Given the description of an element on the screen output the (x, y) to click on. 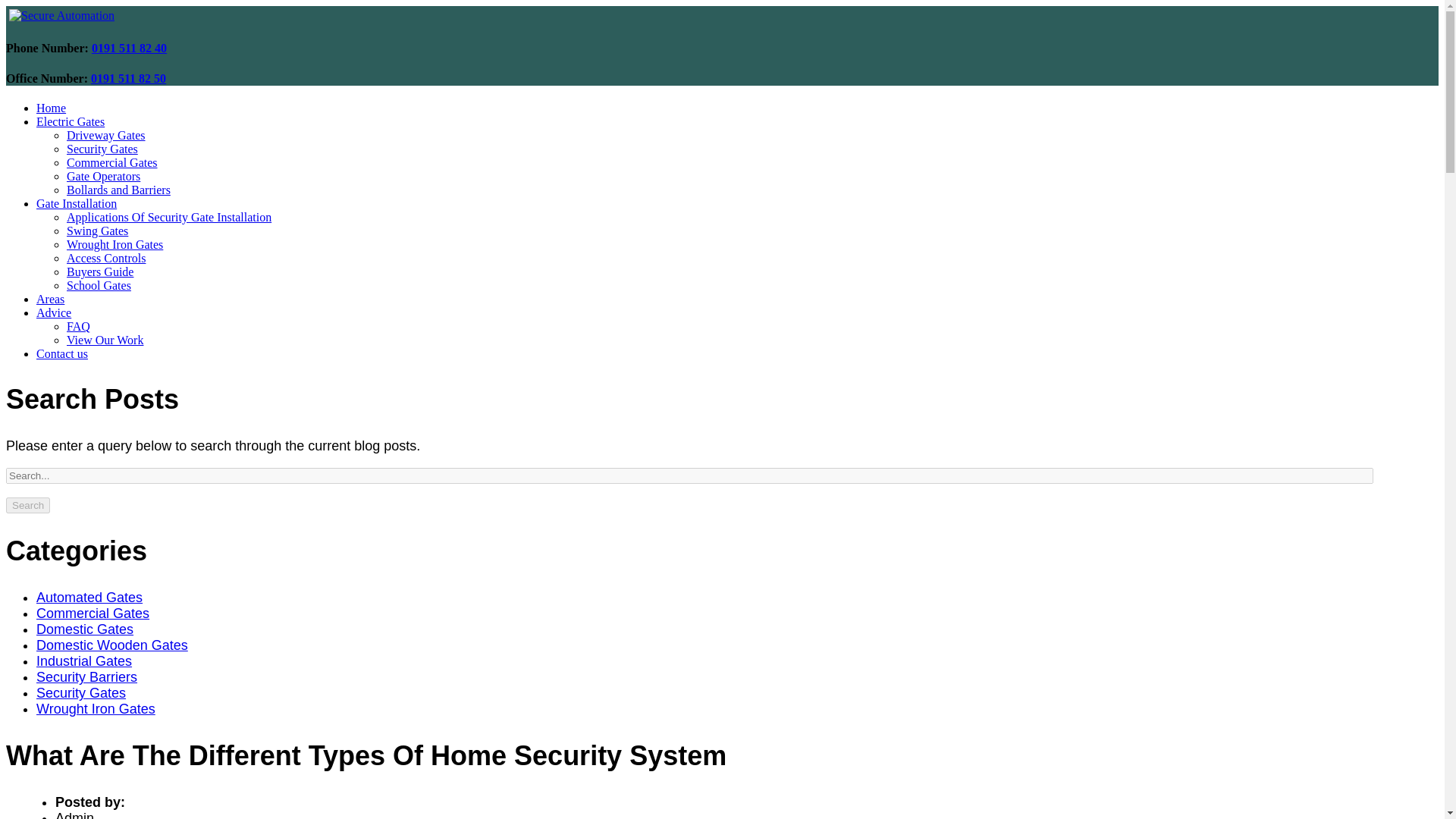
Gate Operators (102, 175)
FAQ (78, 326)
Swing Gates (97, 230)
0191 511 82 50 (127, 78)
Gate Operators (102, 175)
Advice (53, 312)
Bollards and Barriers (118, 189)
View Our Work (104, 339)
Commercial Gates (111, 162)
Domestic Wooden Gates (111, 645)
Buyers Guide (99, 271)
Security Gates (102, 148)
Home (61, 15)
Home (50, 107)
Driveway Gates (105, 134)
